Given the description of an element on the screen output the (x, y) to click on. 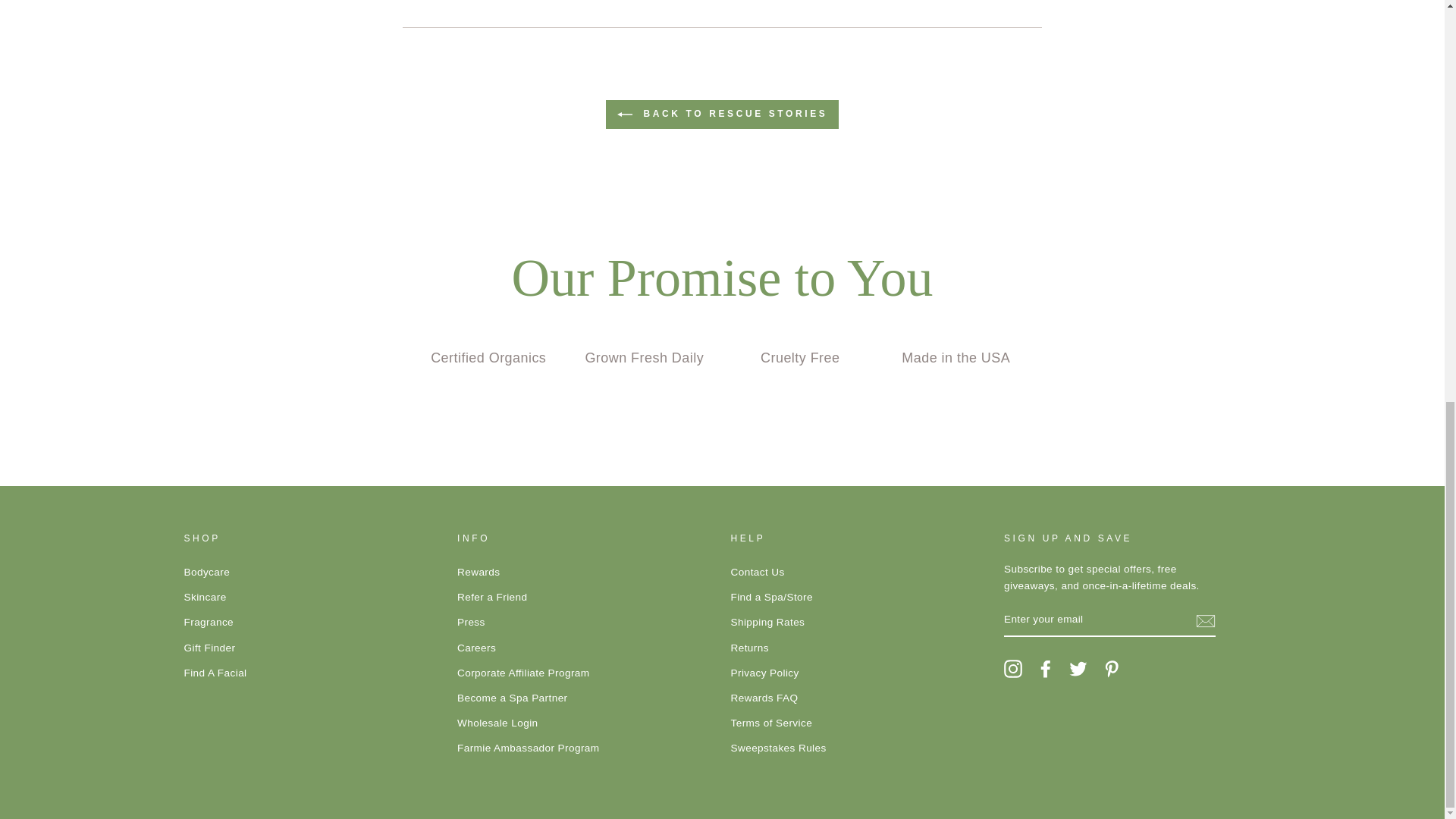
FarmHouse Fresh on Pinterest (1111, 669)
FarmHouse Fresh on Instagram (1013, 669)
FarmHouse Fresh on Facebook (1045, 669)
FarmHouse Fresh on Twitter (1077, 669)
